Given the description of an element on the screen output the (x, y) to click on. 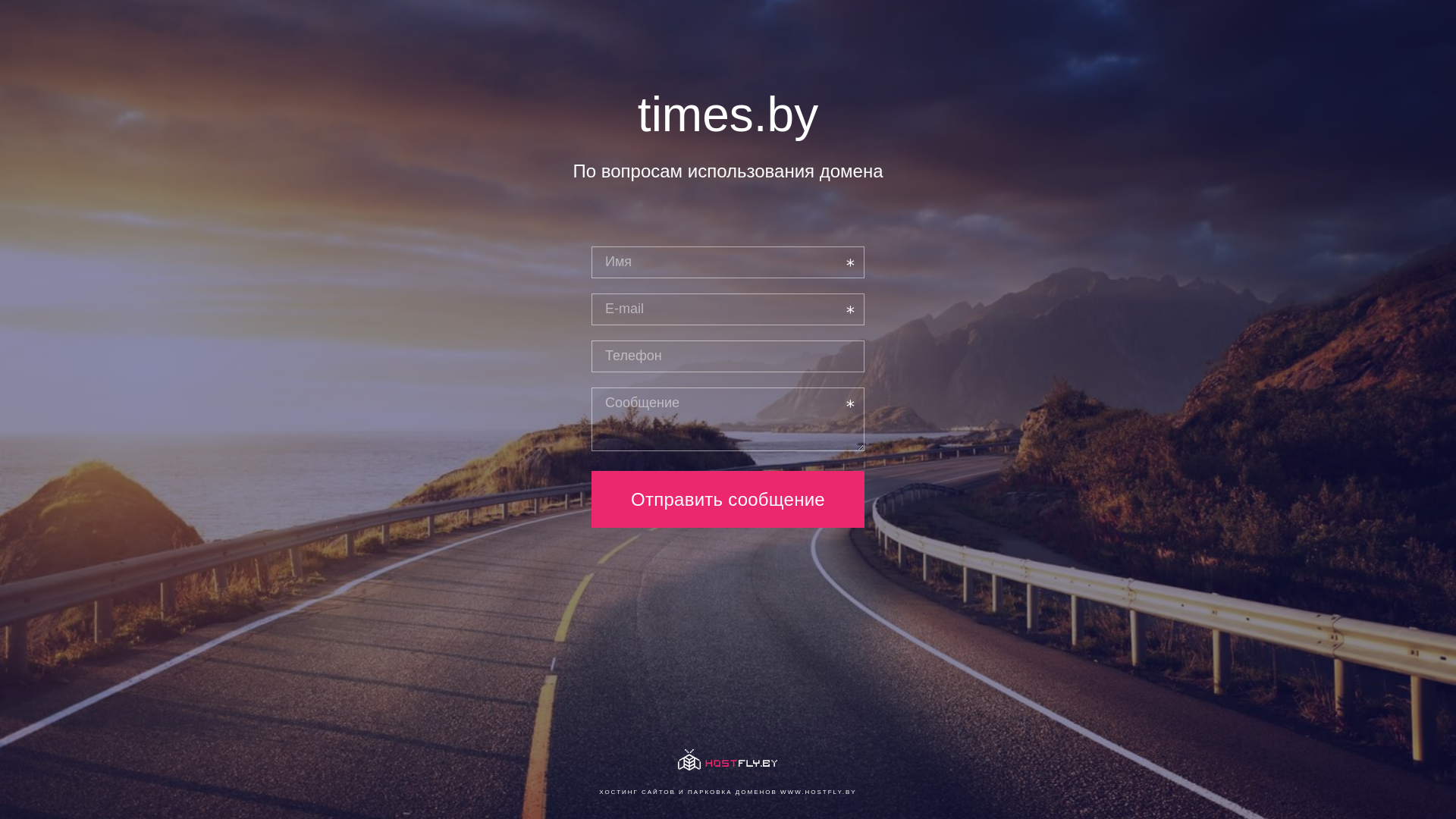
WWW.HOSTFLY.BY Element type: text (818, 791)
